Given the description of an element on the screen output the (x, y) to click on. 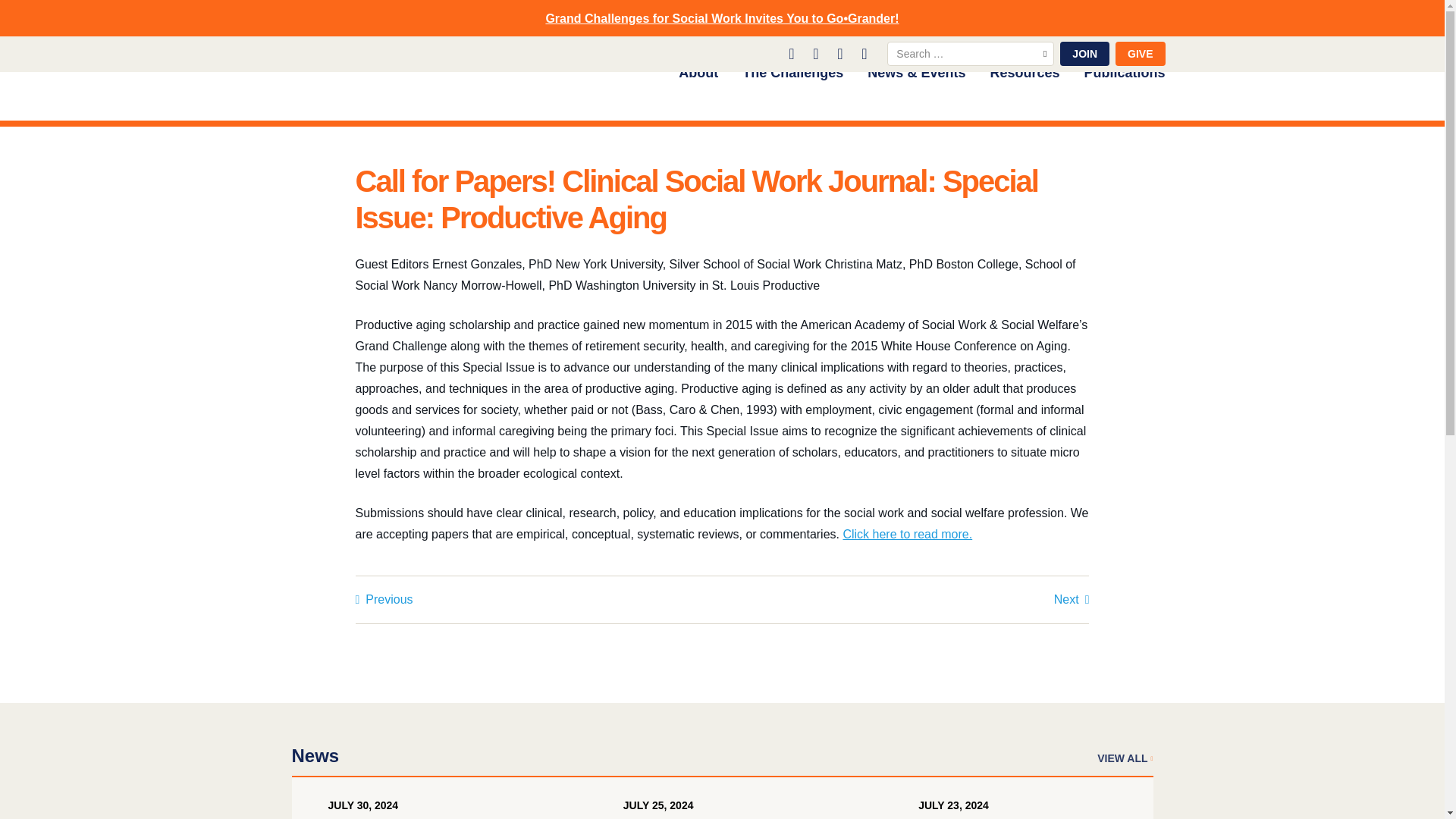
Resources (1024, 77)
Twitter (820, 53)
Facebook (844, 53)
About (697, 77)
Publications (1123, 77)
The Challenges (792, 77)
LinkedIn (796, 53)
